Given the description of an element on the screen output the (x, y) to click on. 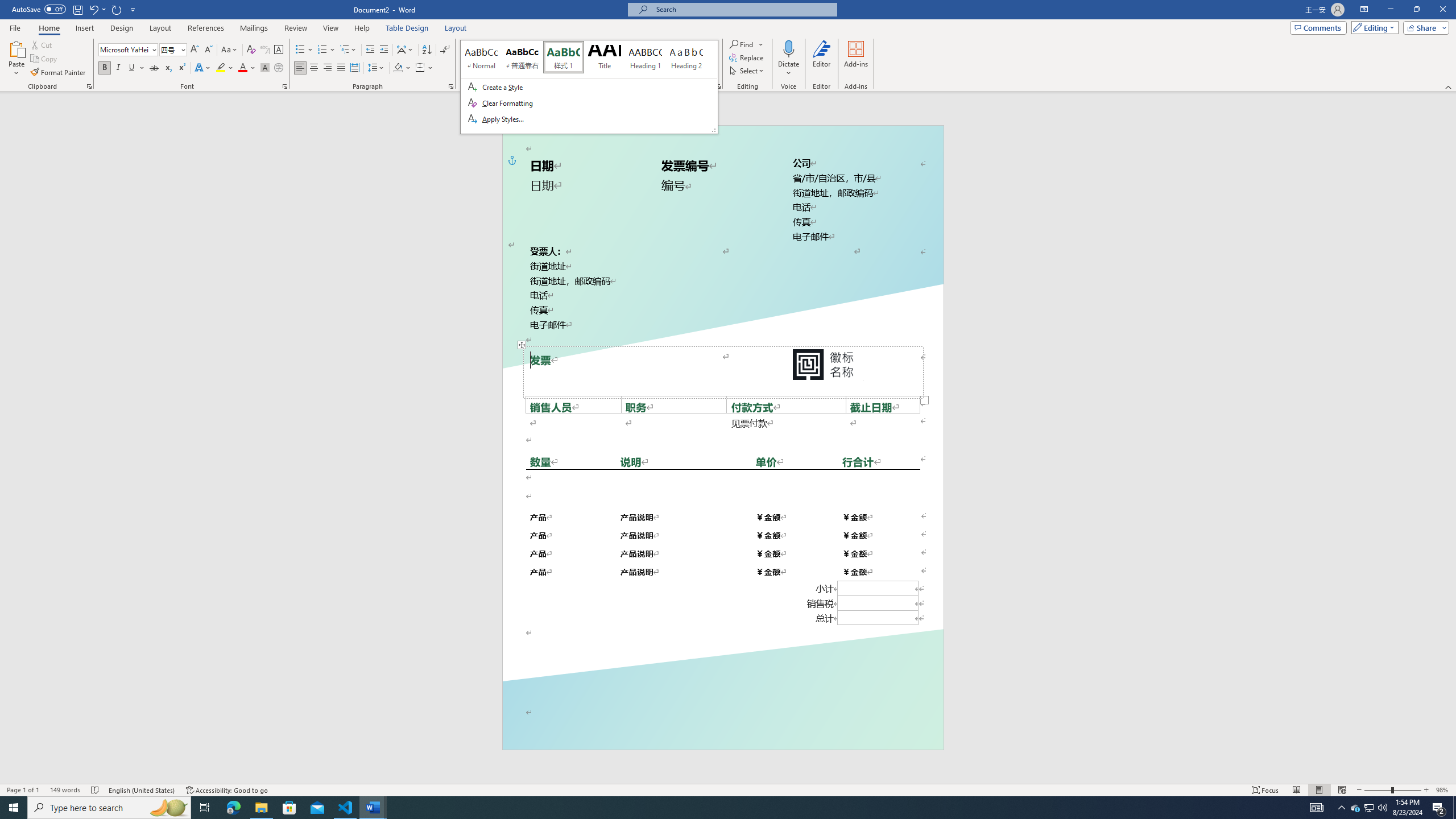
Microsoft Edge (233, 807)
